Given the description of an element on the screen output the (x, y) to click on. 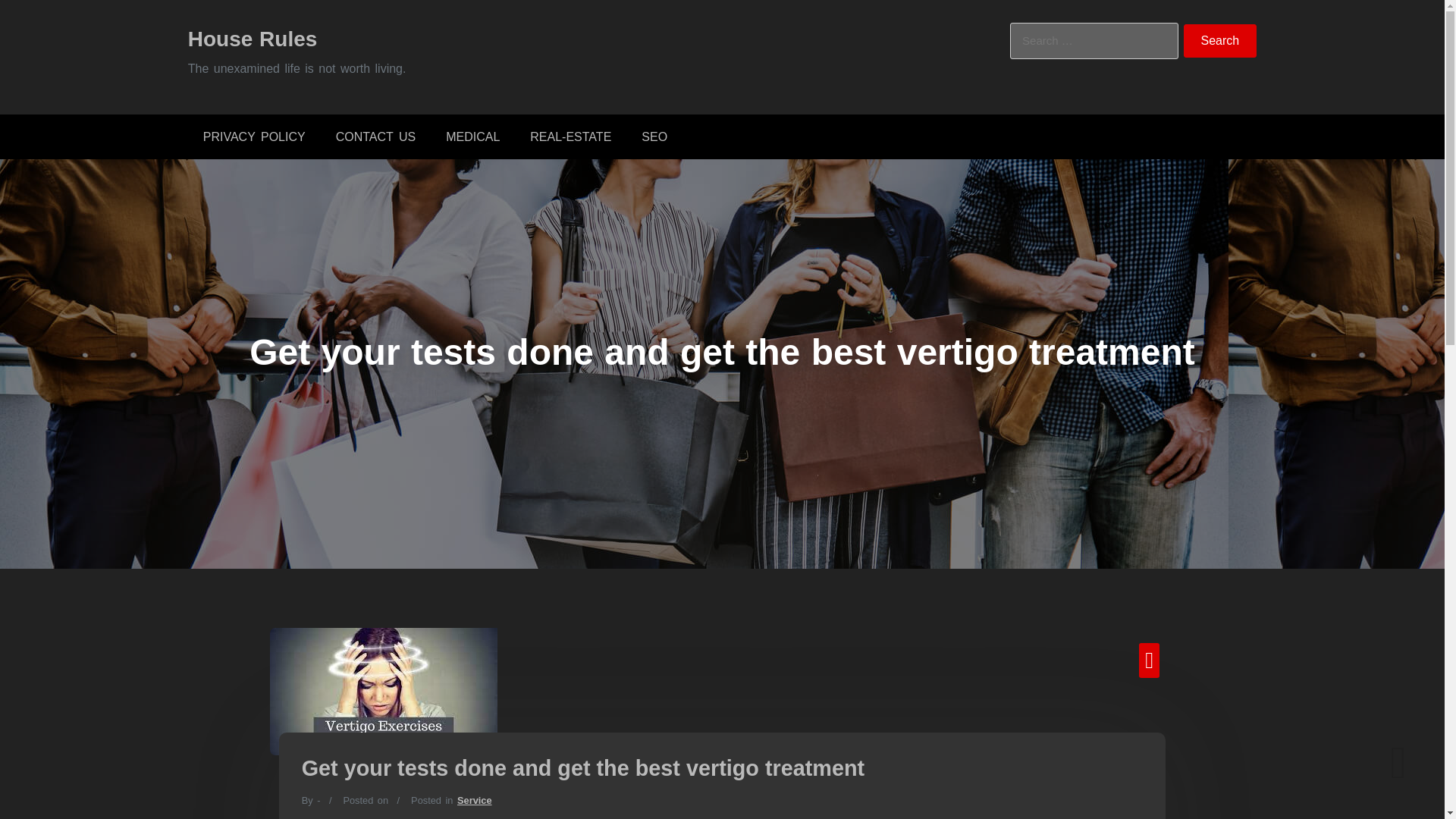
Search (1220, 40)
SEO (654, 136)
Service (474, 799)
House Rules (252, 38)
MEDICAL (472, 136)
REAL-ESTATE (570, 136)
CONTACT US (375, 136)
Search (1220, 40)
PRIVACY POLICY (253, 136)
Search (1220, 40)
